Given the description of an element on the screen output the (x, y) to click on. 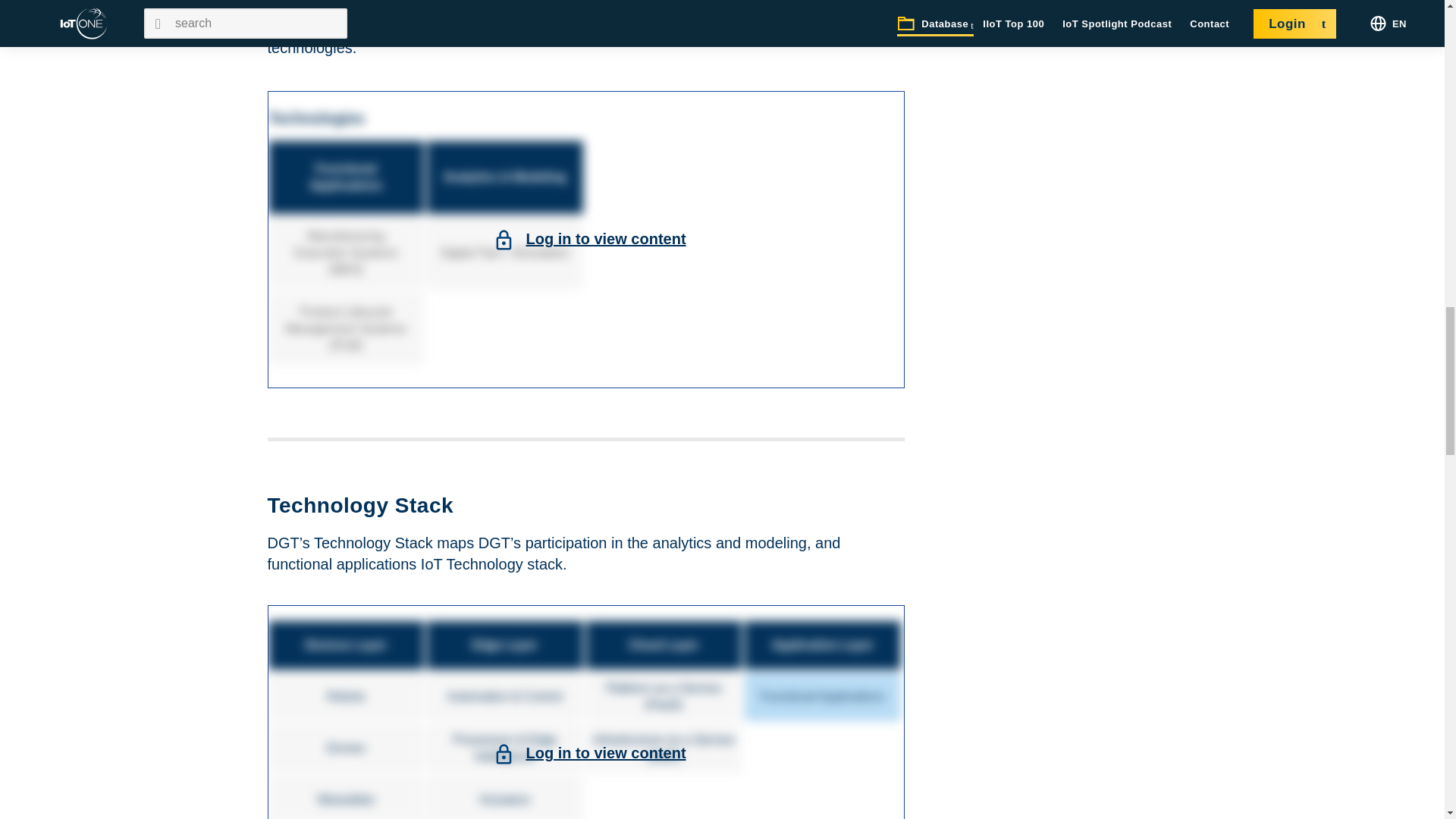
Log in to view content (605, 238)
Functional Applications (347, 176)
Log in to view content (605, 752)
